Given the description of an element on the screen output the (x, y) to click on. 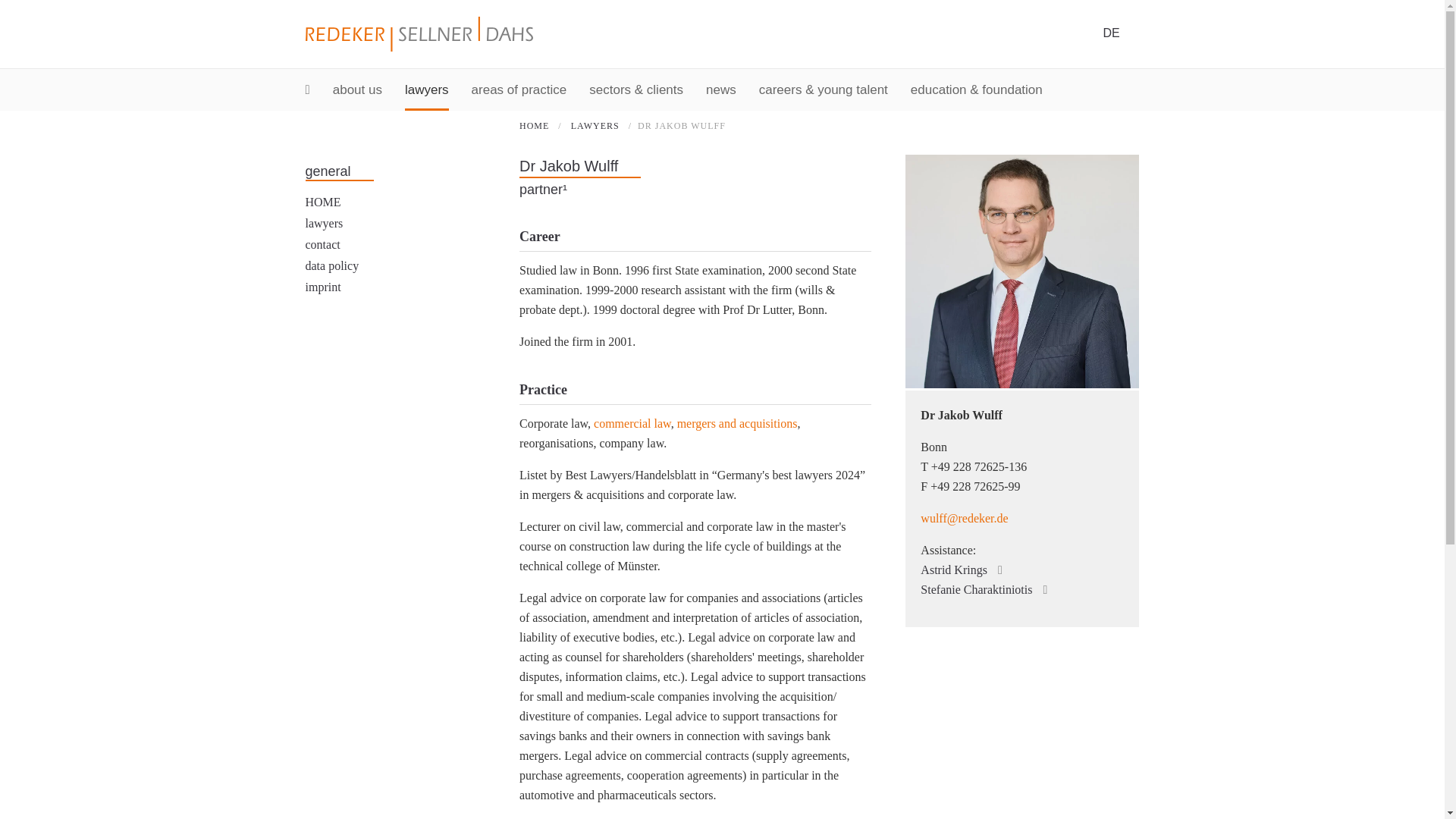
PDF version (1066, 418)
vCard (1090, 418)
lawyers (426, 89)
about us (357, 89)
areas of practice (519, 89)
DE (1110, 32)
